Given the description of an element on the screen output the (x, y) to click on. 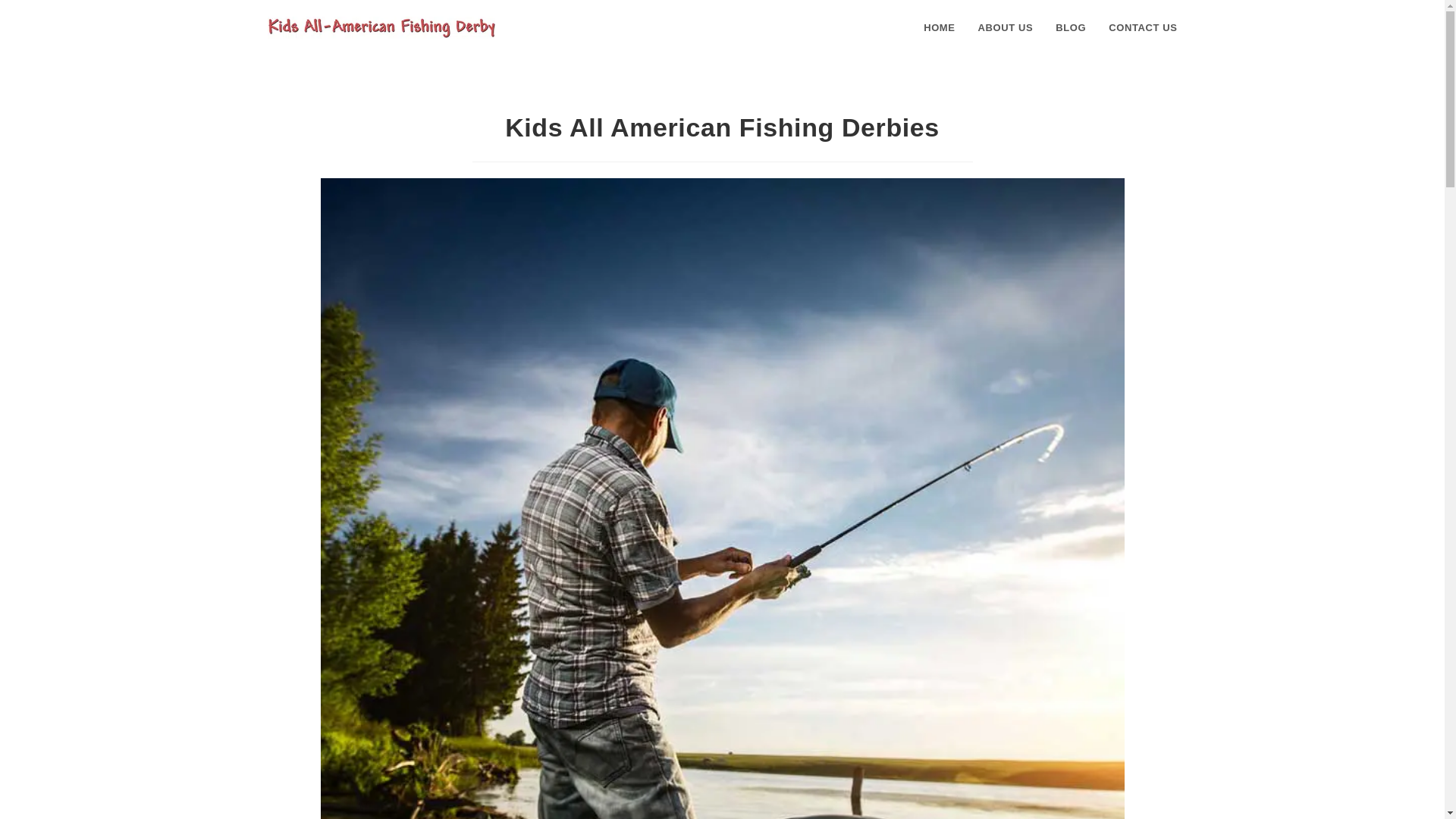
BLOG (1070, 28)
CONTACT US (1142, 28)
ABOUT US (1005, 28)
CONTACT US (1142, 28)
HOME (939, 28)
ABOUT US (1005, 28)
BLOG (1070, 28)
